Given the description of an element on the screen output the (x, y) to click on. 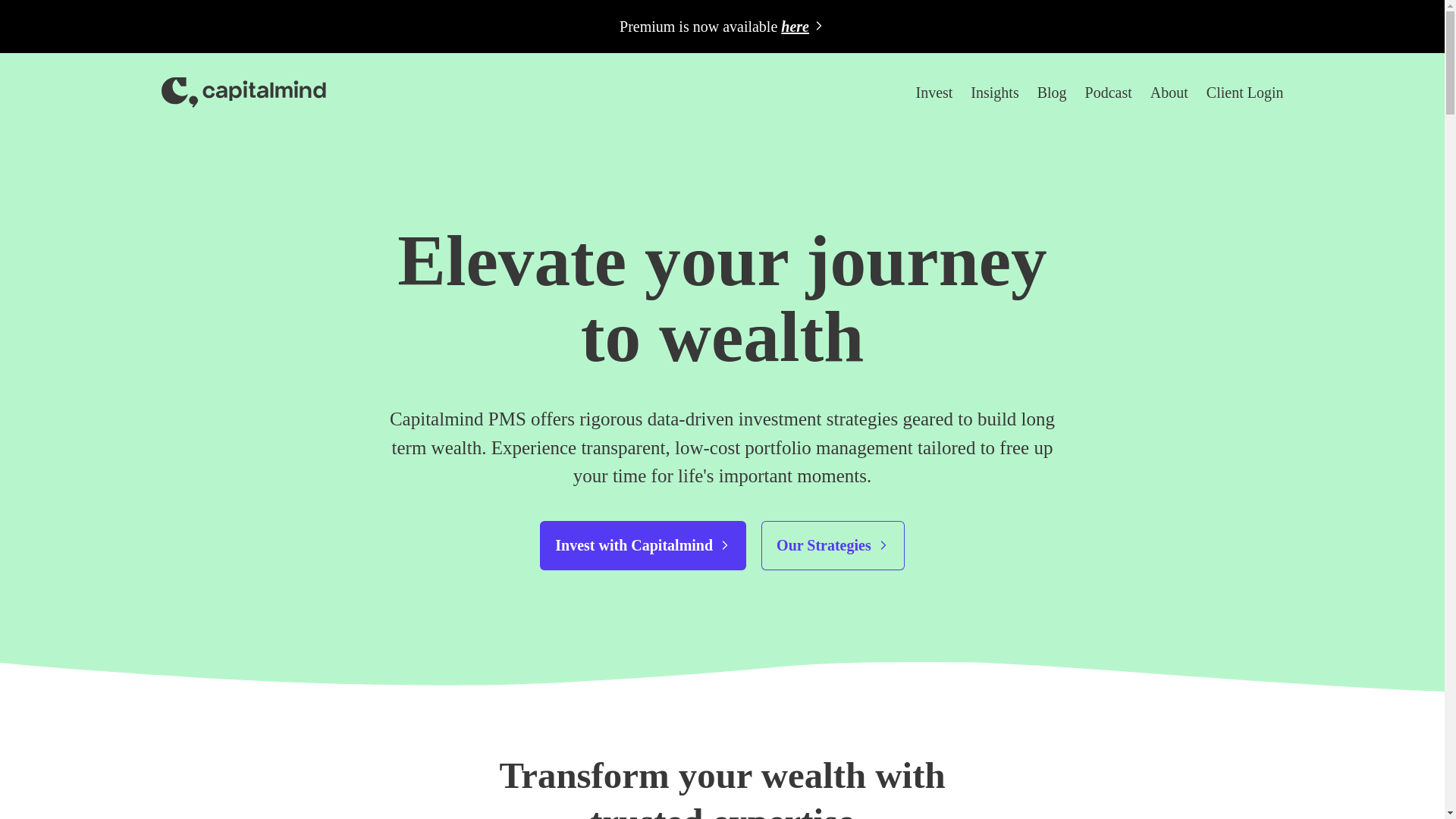
About (1169, 92)
Insights (994, 92)
Our Strategies (832, 545)
Blog (1051, 92)
Invest (933, 92)
Invest with Capitalmind (642, 545)
here  (802, 26)
Podcast (1108, 92)
Client Login (1245, 92)
